Given the description of an element on the screen output the (x, y) to click on. 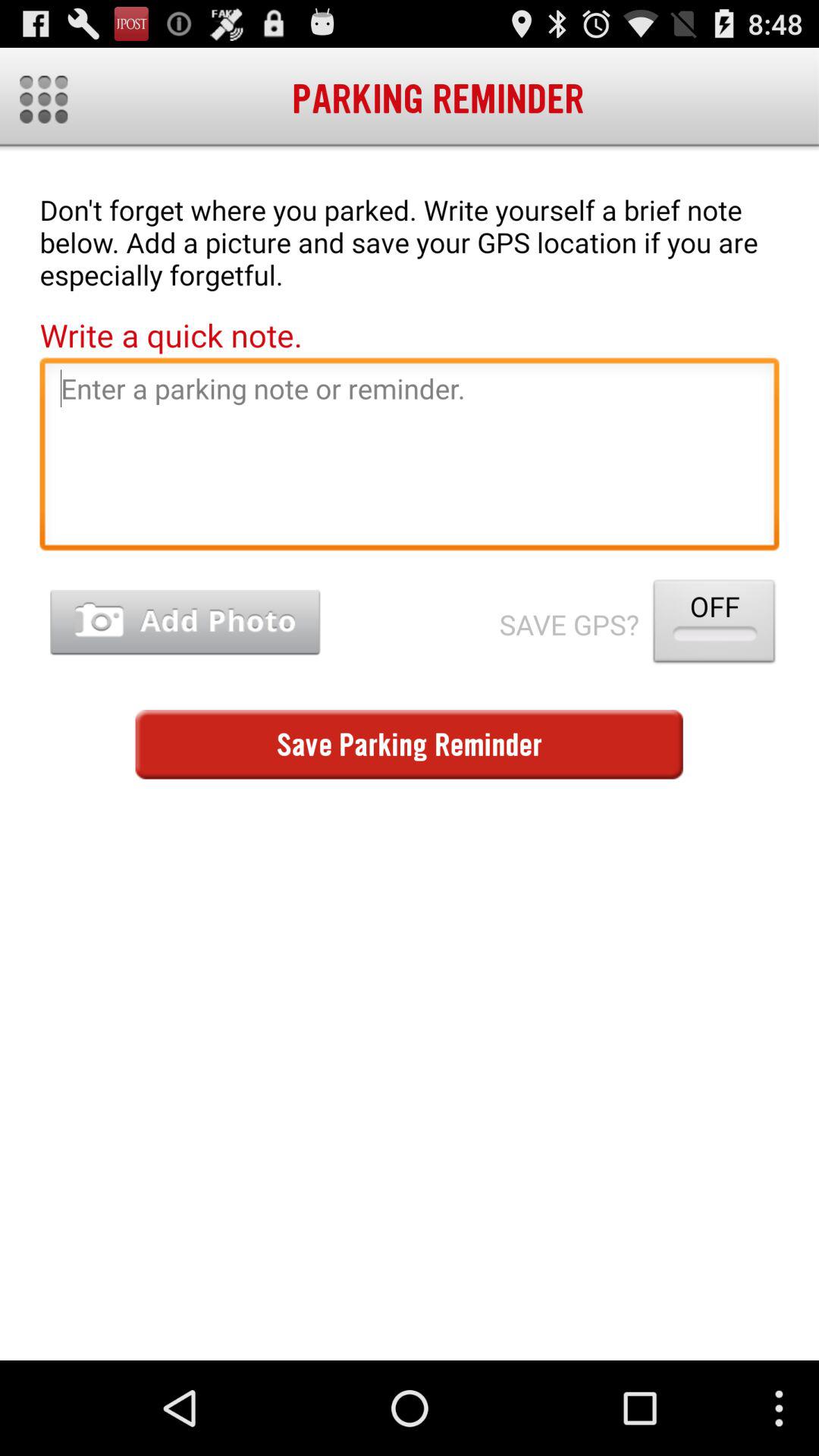
choose icon to the left of the save gps? app (185, 622)
